Given the description of an element on the screen output the (x, y) to click on. 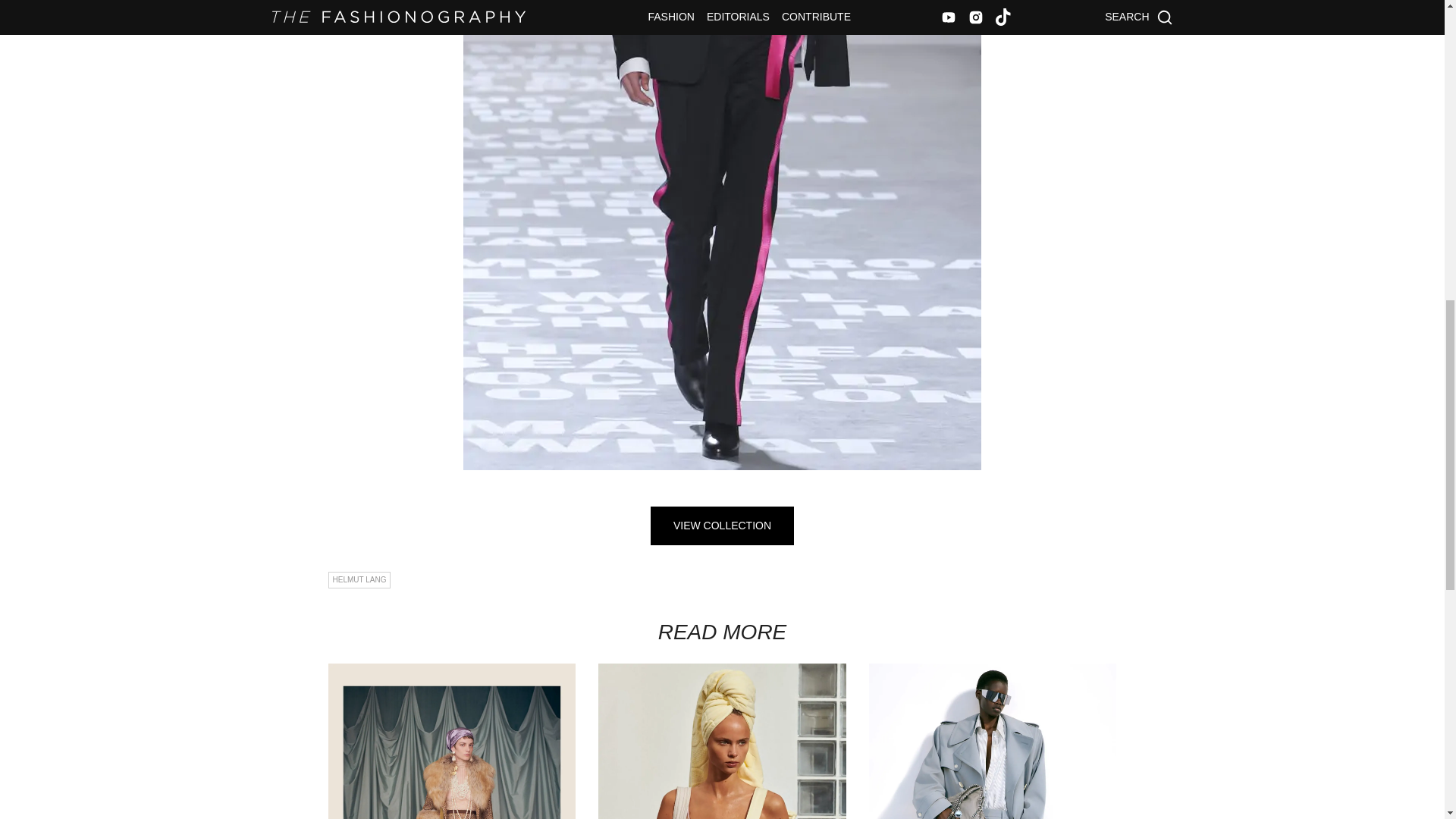
Valentino Resort 2025 (451, 741)
VIEW COLLECTION (721, 525)
HELMUT LANG (358, 579)
